Given the description of an element on the screen output the (x, y) to click on. 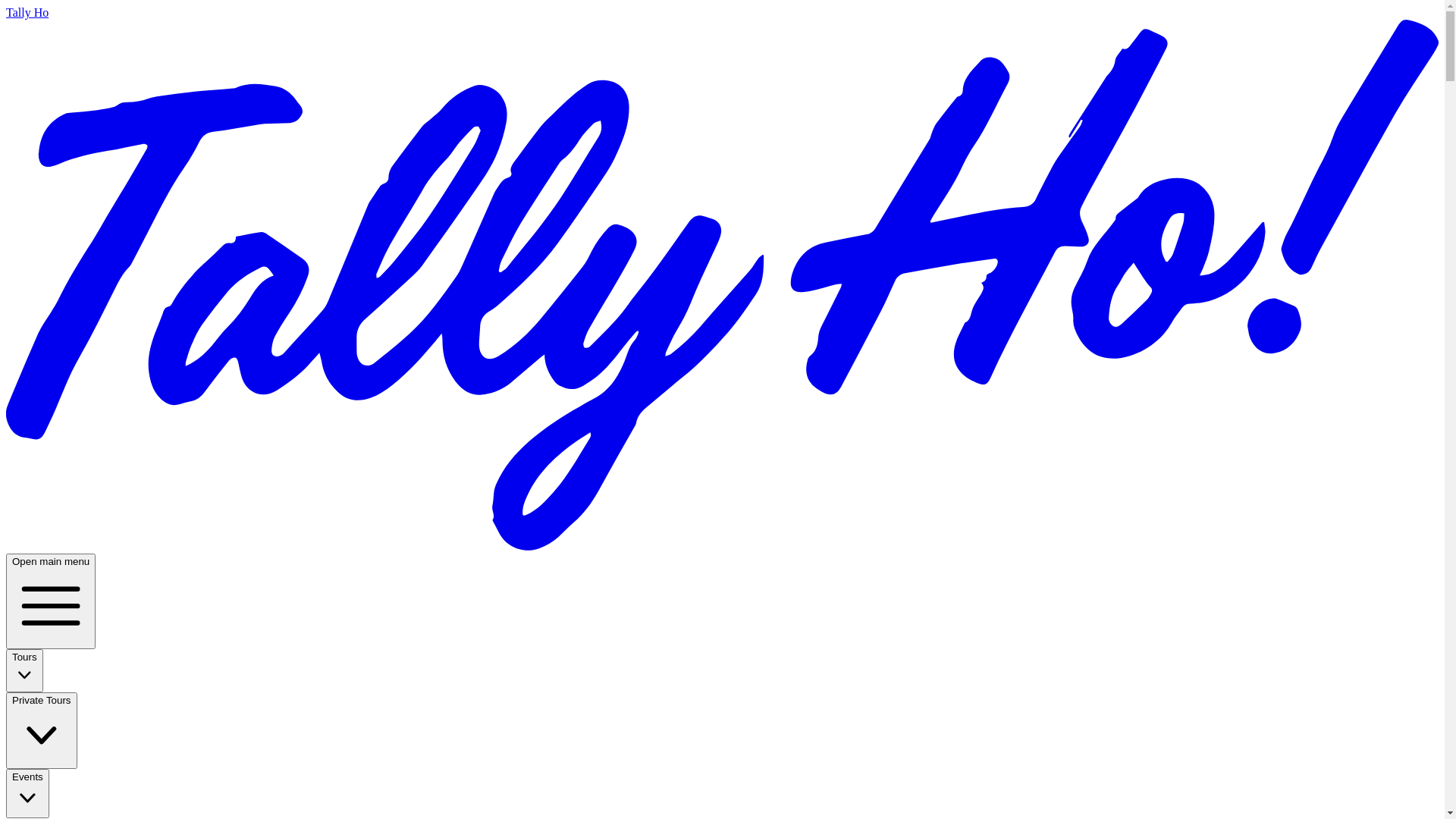
Open main menu Element type: text (50, 601)
Events Element type: text (27, 793)
Private Tours Element type: text (41, 729)
Tally Ho Element type: text (722, 279)
Tours Element type: text (24, 670)
